Given the description of an element on the screen output the (x, y) to click on. 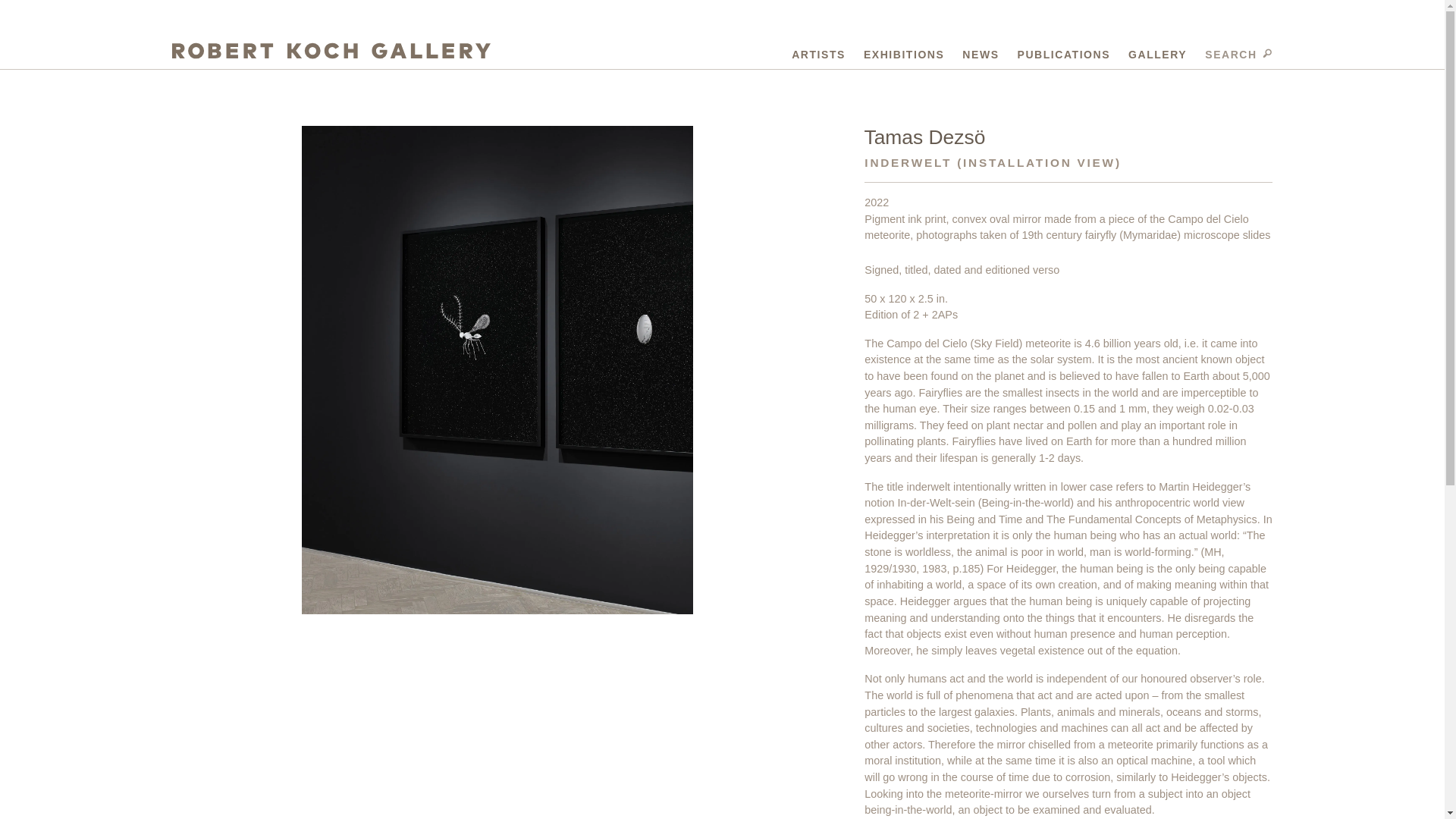
Robert Koch Gallery (330, 52)
Artists (818, 52)
Robert Koch Gallery Home (330, 52)
SEARCH (1238, 52)
NEWS (980, 52)
Gallery (1157, 52)
PUBLICATIONS (1063, 52)
News (980, 52)
ARTISTS (818, 52)
EXHIBITIONS (903, 52)
Publications (1063, 52)
Exhibitions (903, 52)
GALLERY (1157, 52)
Search (1238, 52)
